Given the description of an element on the screen output the (x, y) to click on. 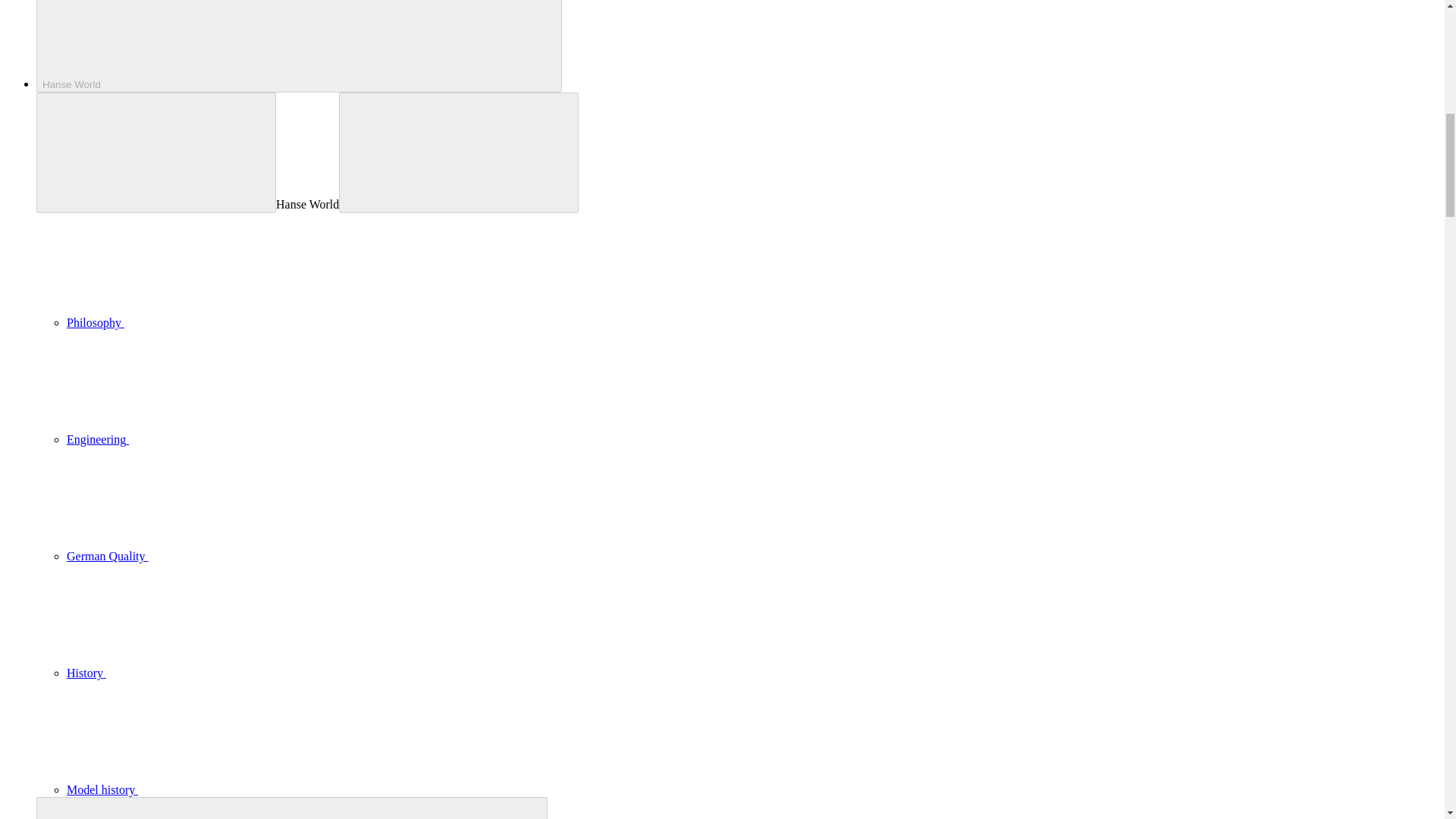
Philosophy (209, 322)
Hanse World (299, 46)
German Quality (220, 555)
History (199, 672)
Model history (215, 789)
Model history (215, 789)
German Quality (220, 555)
Engineering (211, 439)
Philosophy (209, 322)
Magazine (291, 807)
Engineering (211, 439)
History (199, 672)
